Given the description of an element on the screen output the (x, y) to click on. 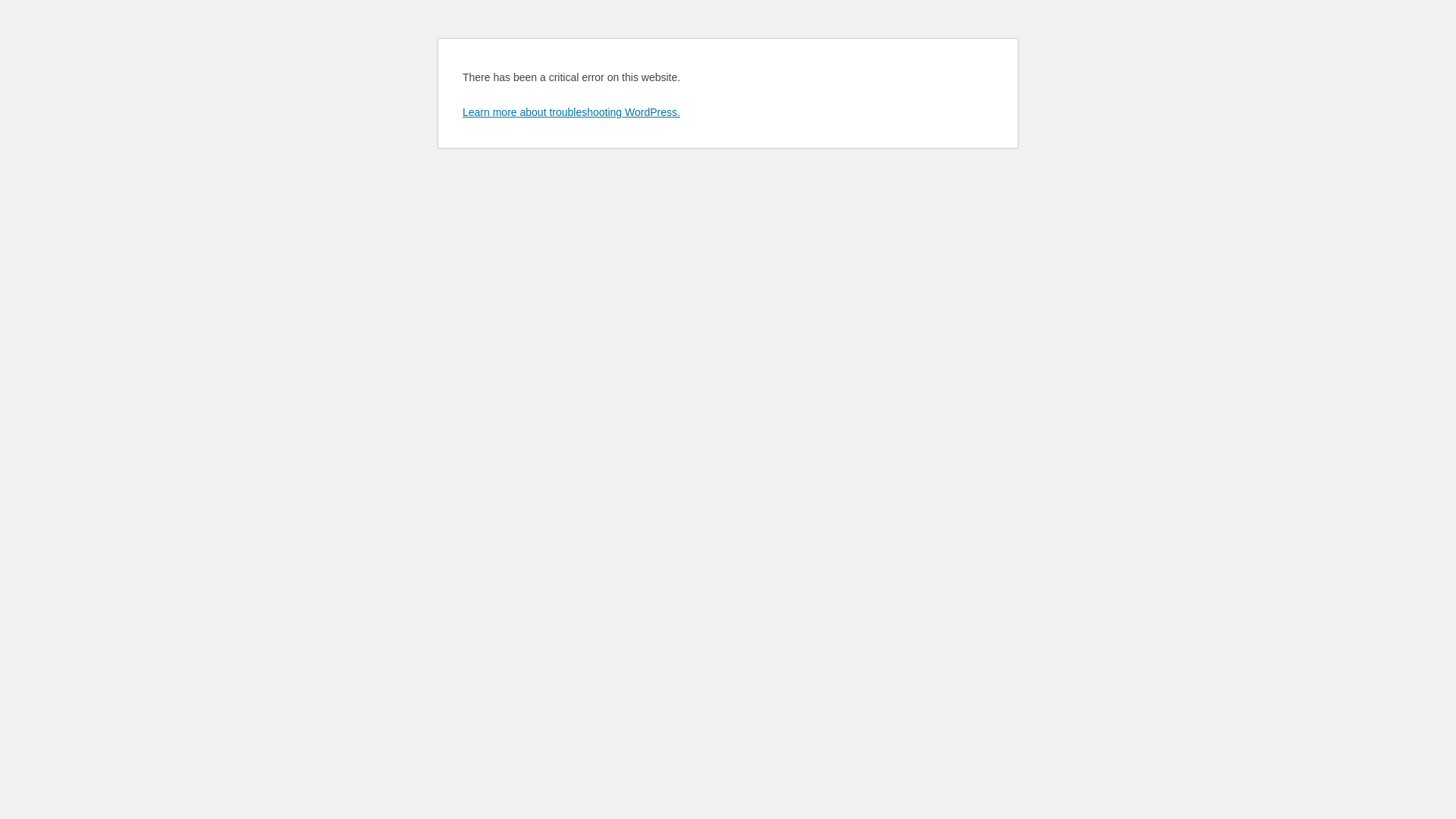
Learn more about troubleshooting WordPress. Element type: text (571, 112)
